Given the description of an element on the screen output the (x, y) to click on. 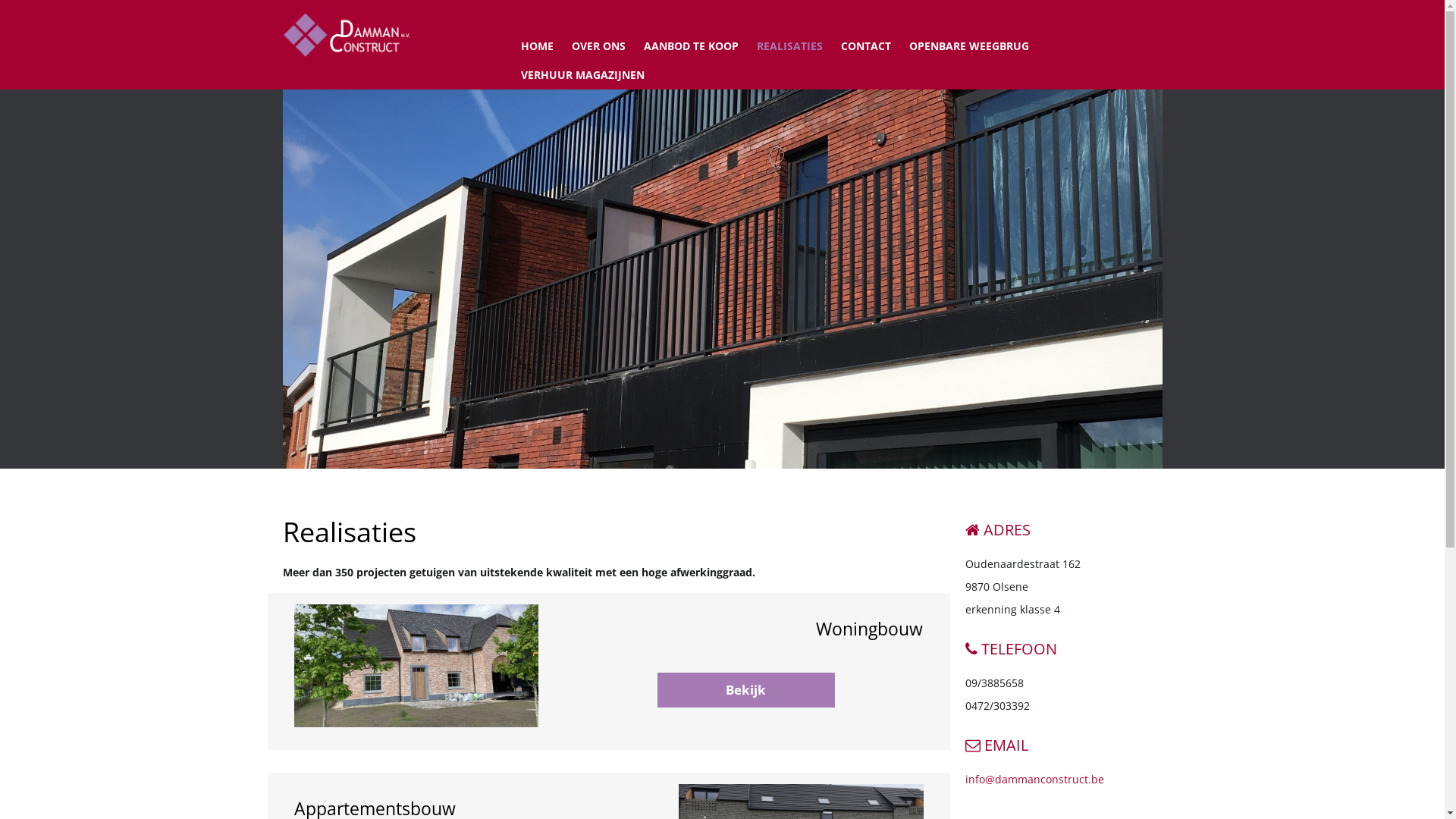
Bekijk Element type: text (745, 689)
REALISATIES Element type: text (789, 45)
CONTACT Element type: text (864, 45)
HOME Element type: text (536, 45)
OPENBARE WEEGBRUG Element type: text (967, 45)
VERHUUR MAGAZIJNEN Element type: text (581, 74)
info@dammanconstruct.be Element type: text (1033, 778)
Woningbouw Element type: hover (416, 665)
OVER ONS Element type: text (598, 45)
AANBOD TE KOOP Element type: text (690, 45)
